Given the description of an element on the screen output the (x, y) to click on. 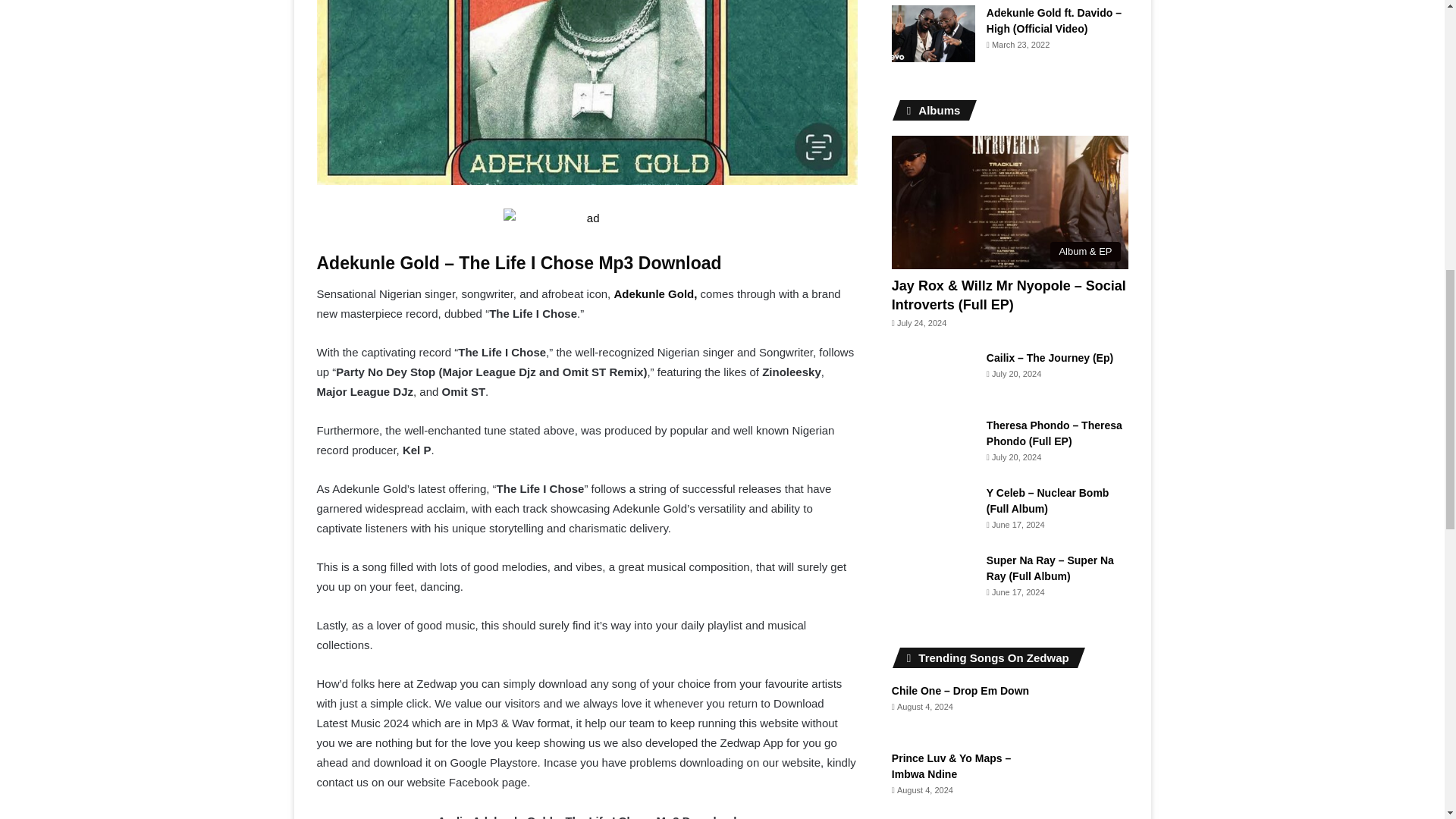
Adekunle Gold, (654, 293)
